Given the description of an element on the screen output the (x, y) to click on. 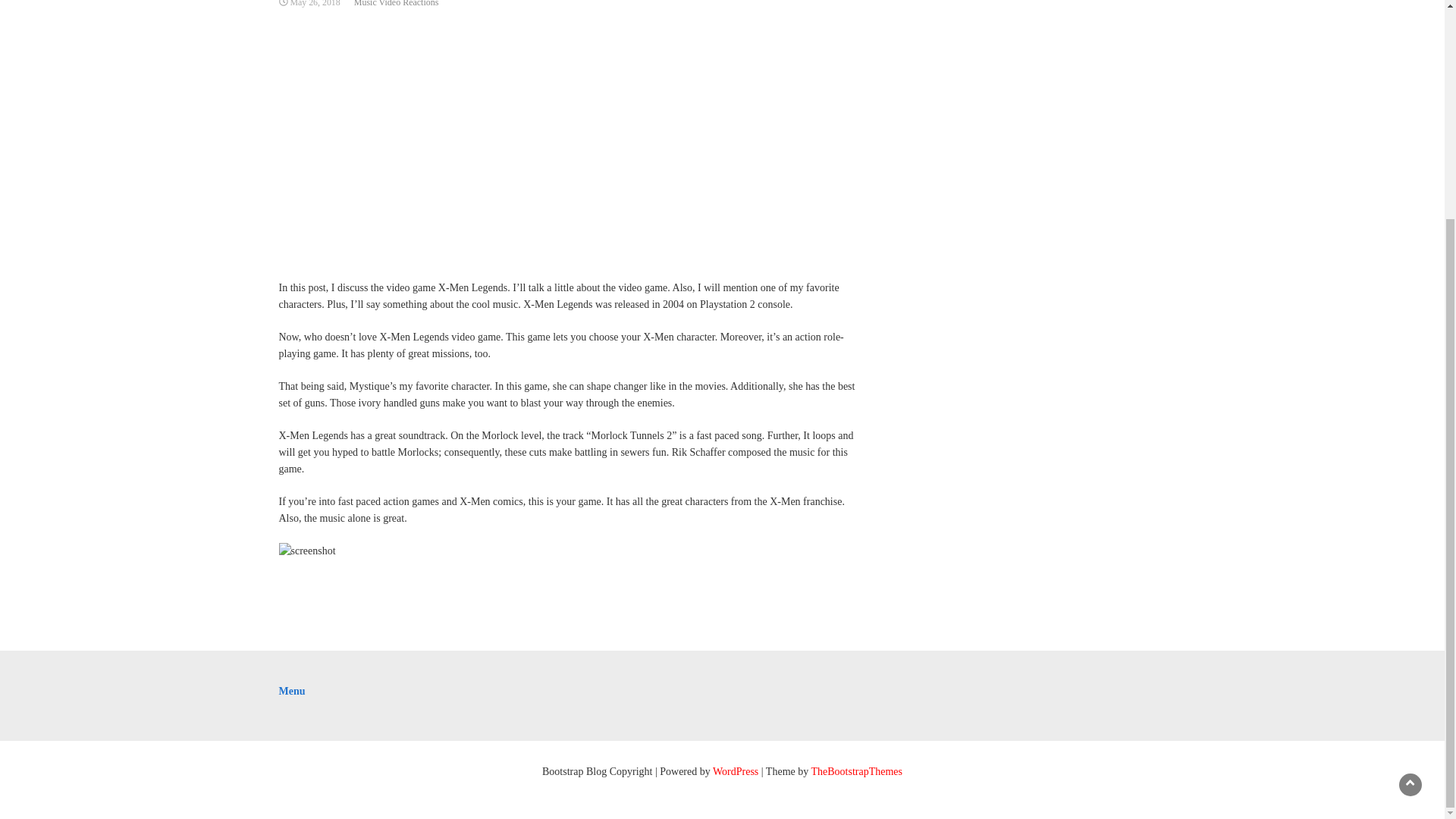
TheBootstrapThemes (856, 771)
May 26, 2018 (314, 3)
WordPress (735, 771)
Music Video Reactions (396, 3)
